Given the description of an element on the screen output the (x, y) to click on. 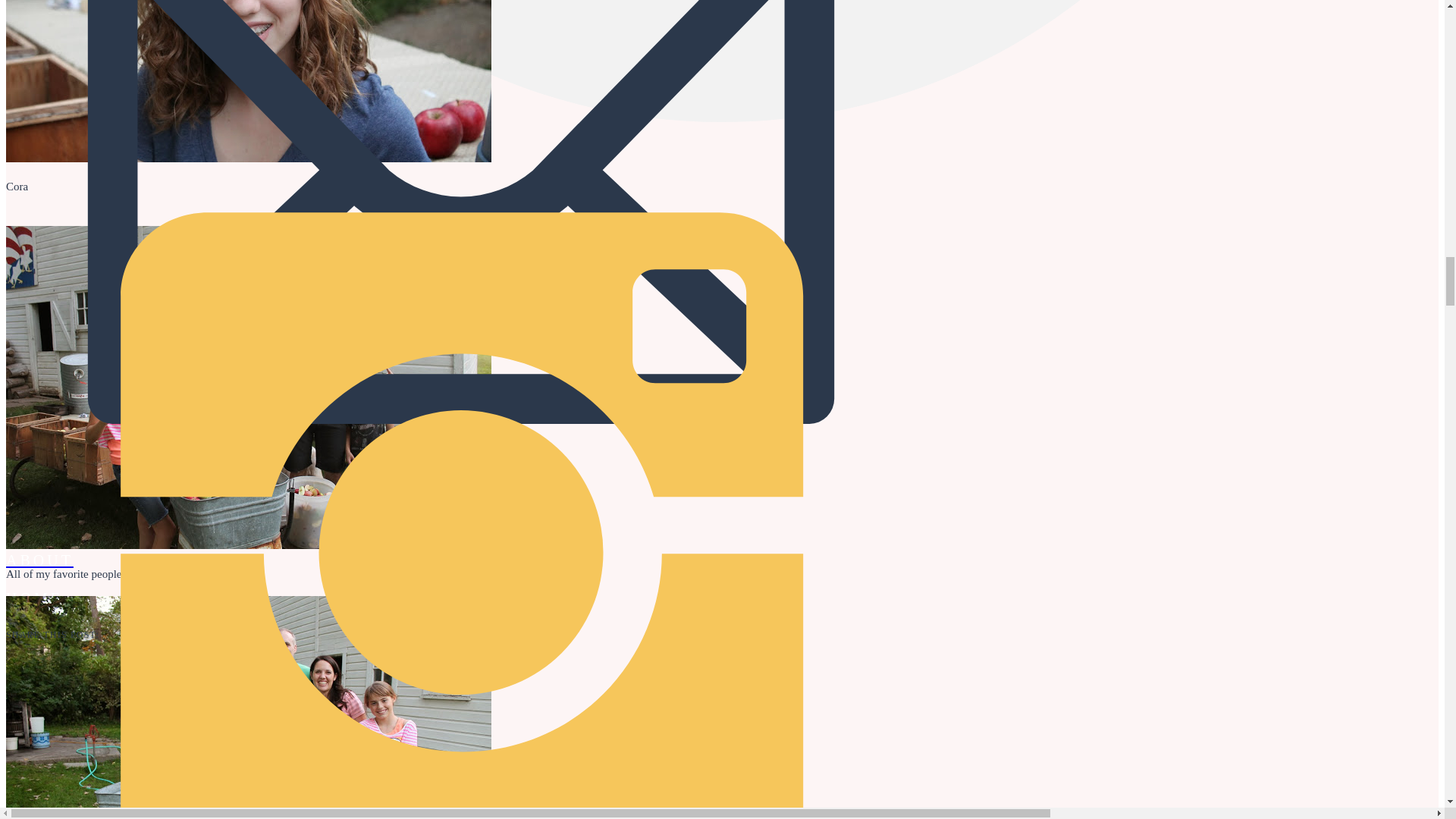
PODCAST (721, 430)
HOUSE TOUR (721, 522)
ABOUT (721, 484)
HOME (721, 559)
